Given the description of an element on the screen output the (x, y) to click on. 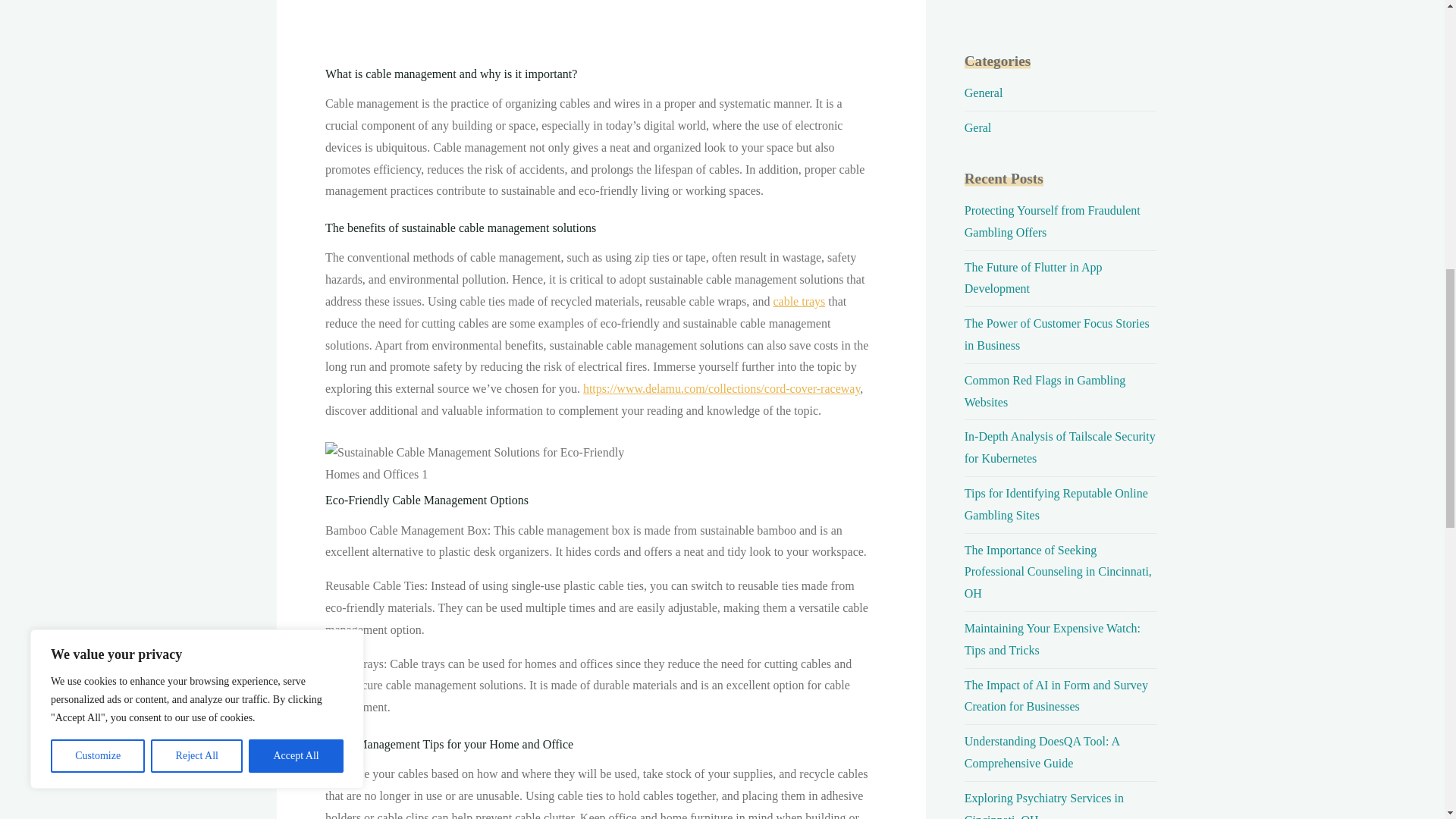
General (983, 92)
The Power of Customer Focus Stories in Business (1056, 334)
cable trays (799, 300)
Geral (977, 127)
Protecting Yourself from Fraudulent Gambling Offers (1051, 221)
The Future of Flutter in App Development (1032, 278)
